Given the description of an element on the screen output the (x, y) to click on. 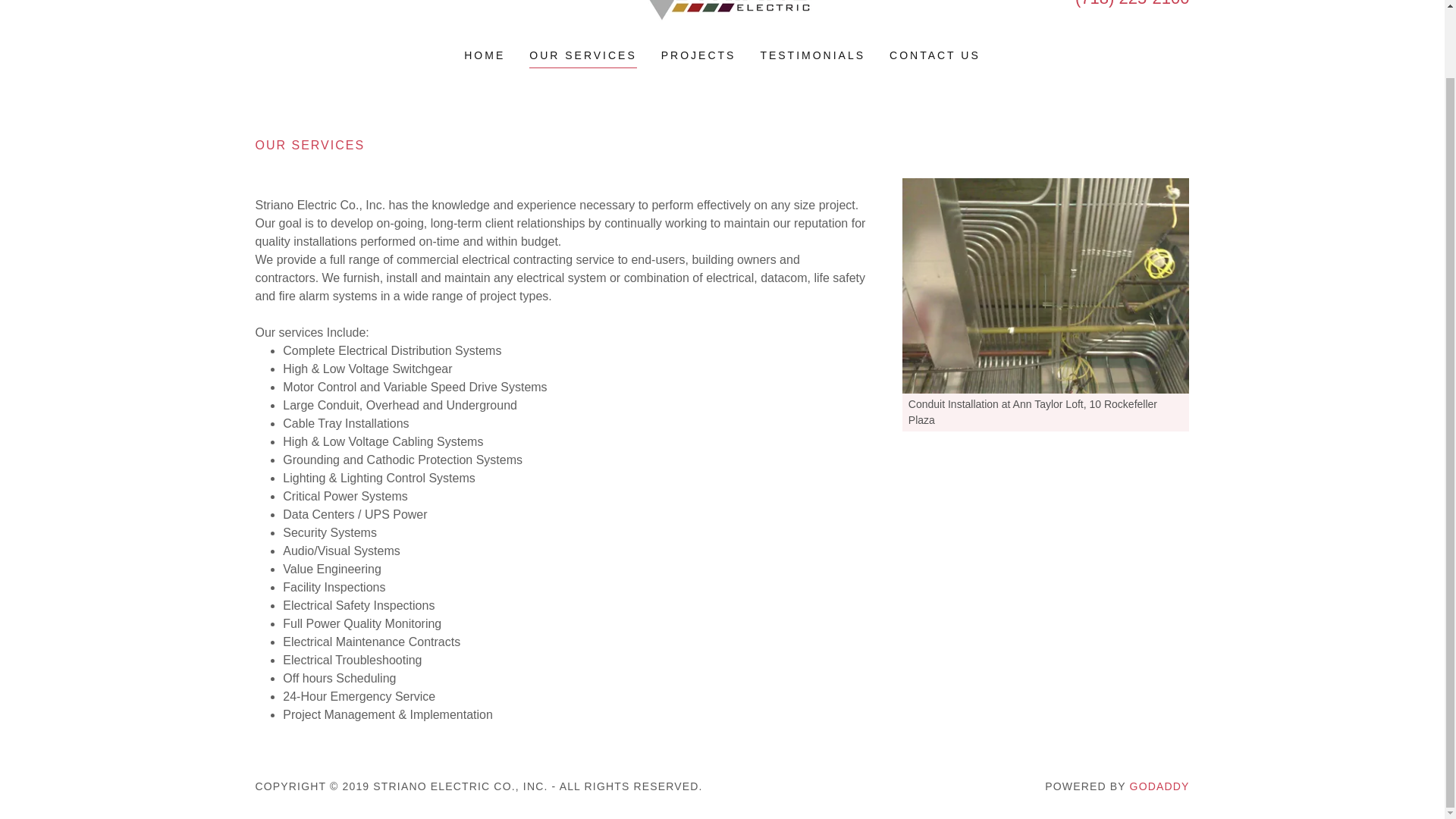
OUR SERVICES (583, 56)
HOME (484, 54)
TESTIMONIALS (812, 54)
GODADDY (1159, 786)
CONTACT US (935, 54)
Striano Electric Co., Inc. (721, 1)
PROJECTS (698, 54)
